Given the description of an element on the screen output the (x, y) to click on. 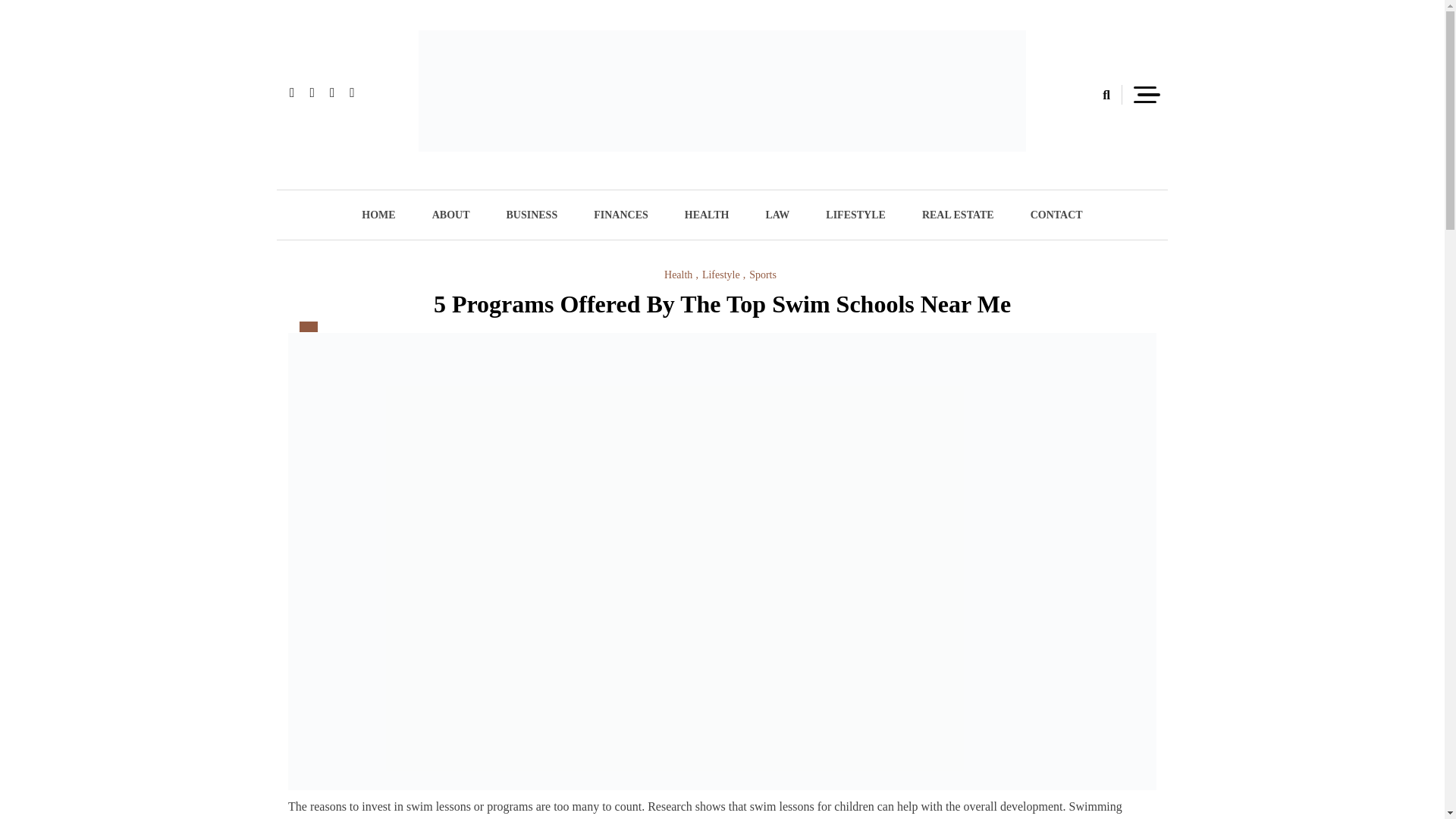
REAL ESTATE (957, 214)
ABOUT (450, 214)
FINANCES (620, 214)
Sports (762, 274)
BUSINESS (531, 214)
Lifestyle (723, 274)
HOME (378, 214)
LAW (777, 214)
einsiders (474, 177)
LIFESTYLE (856, 214)
